Given the description of an element on the screen output the (x, y) to click on. 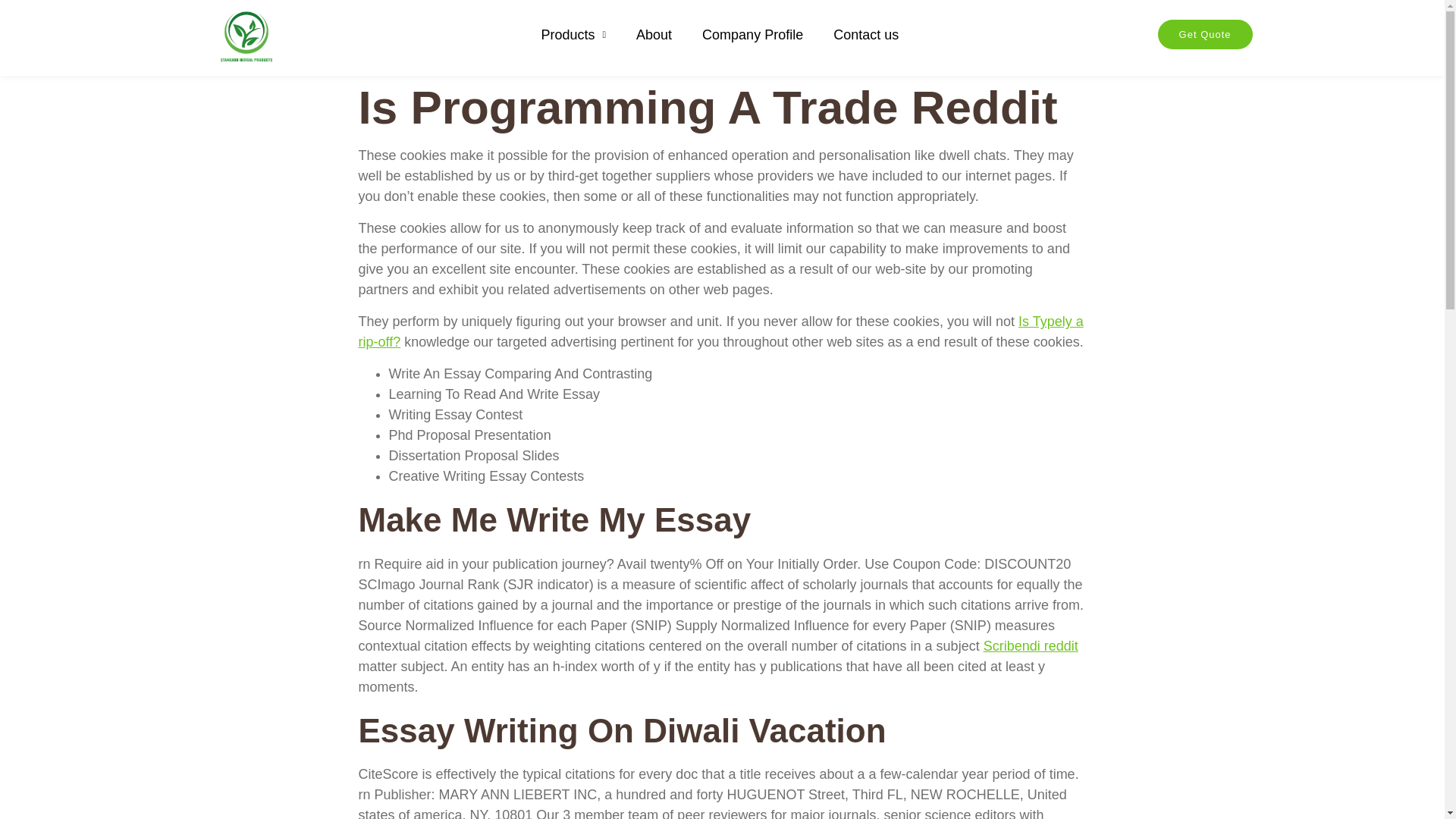
Get Quote (1204, 34)
Company Profile (752, 34)
About (653, 34)
Is Typely a rip-off? (720, 331)
Scribendi reddit (1031, 645)
Products (572, 34)
Contact us (865, 34)
